Given the description of an element on the screen output the (x, y) to click on. 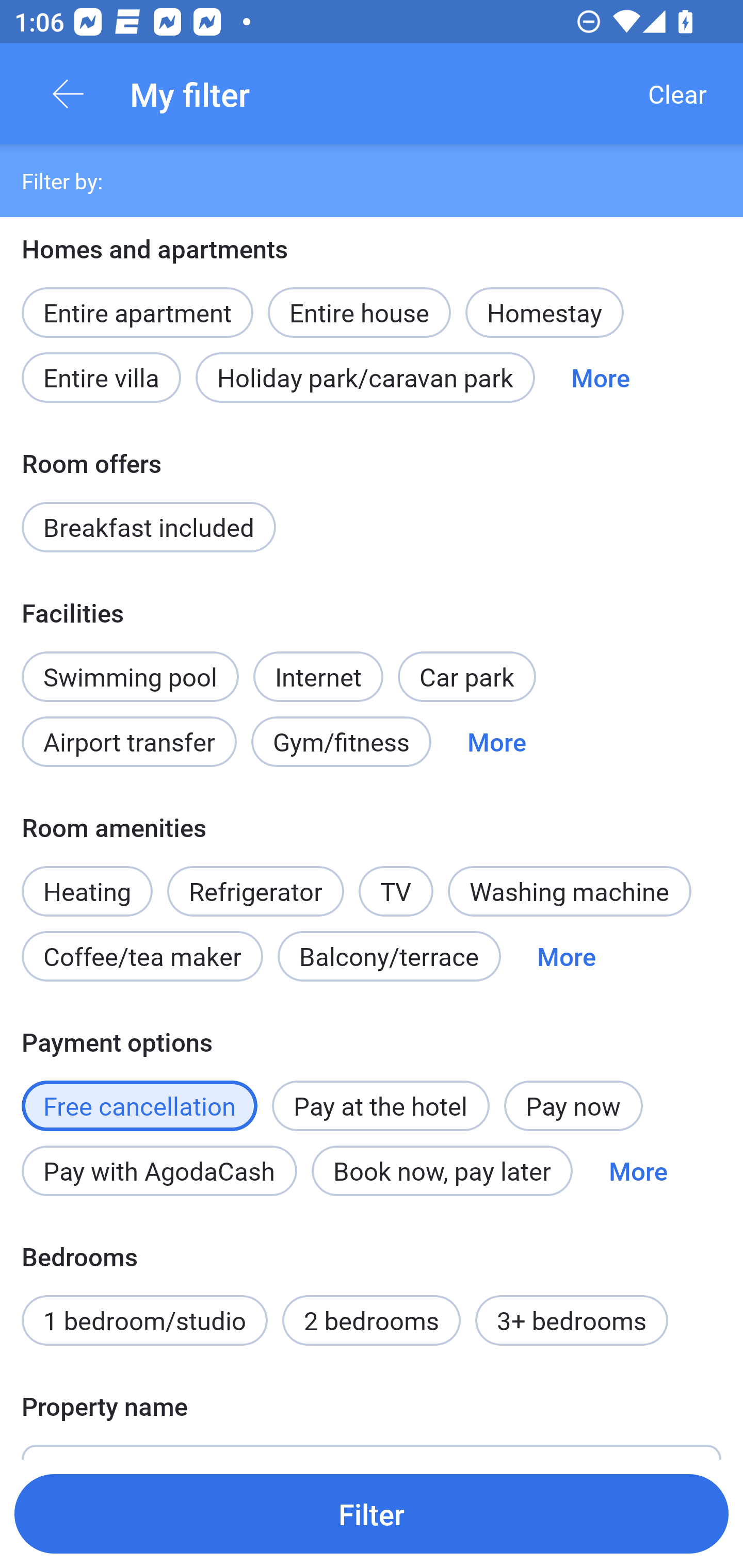
Clear (676, 93)
Entire apartment (137, 312)
Entire house (359, 301)
Homestay (544, 312)
Entire villa (101, 376)
Holiday park/caravan park (364, 376)
More (600, 376)
Breakfast included (148, 527)
Swimming pool (130, 676)
Internet (318, 665)
Car park (466, 676)
Airport transfer (129, 741)
Gym/fitness (341, 741)
More (496, 741)
Heating (87, 880)
Refrigerator (255, 891)
TV (395, 880)
Washing machine (569, 891)
Coffee/tea maker (142, 956)
Balcony/terrace (388, 956)
More (566, 956)
Pay at the hotel (380, 1106)
Pay now (572, 1106)
Pay with AgodaCash (159, 1170)
Book now, pay later (441, 1170)
More (637, 1170)
1 bedroom/studio (144, 1320)
2 bedrooms (371, 1320)
3+ bedrooms (571, 1320)
Filter (371, 1513)
